Given the description of an element on the screen output the (x, y) to click on. 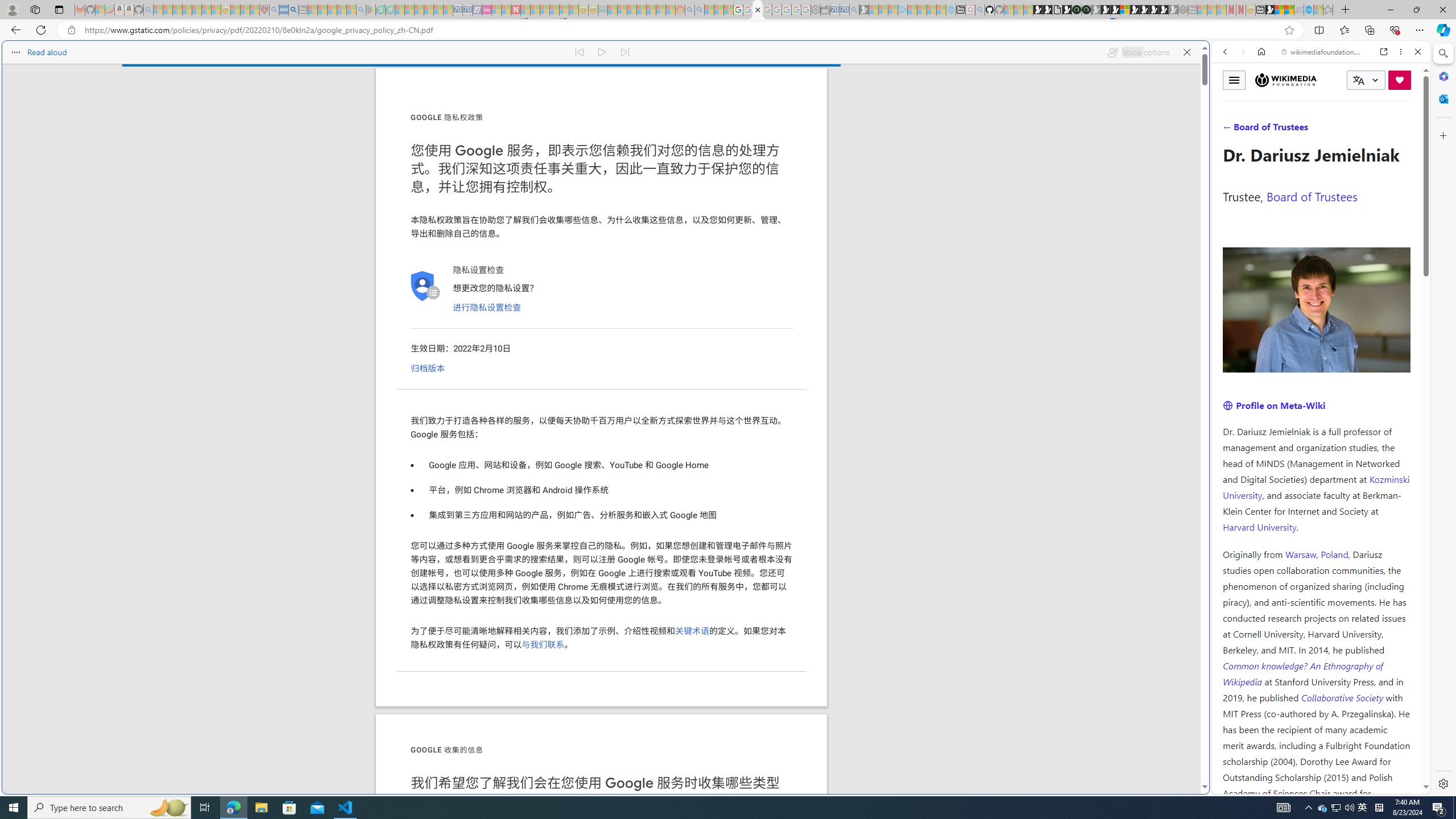
Close split screen (1208, 57)
google_privacy_policy_zh-CN.pdf (1118, 683)
